Given the description of an element on the screen output the (x, y) to click on. 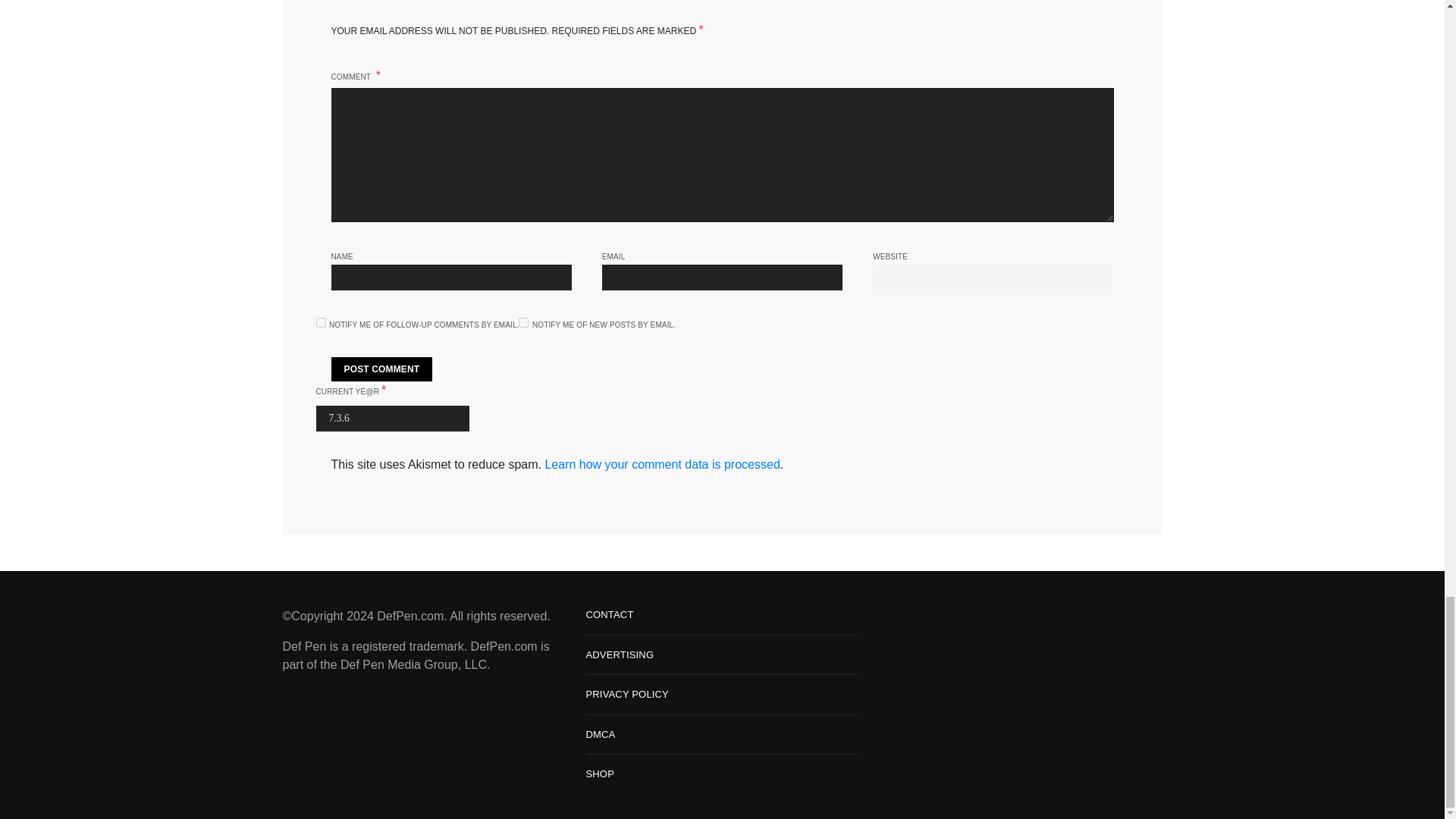
Post Comment (381, 369)
7.3.6 (391, 418)
subscribe (523, 322)
subscribe (319, 322)
